Given the description of an element on the screen output the (x, y) to click on. 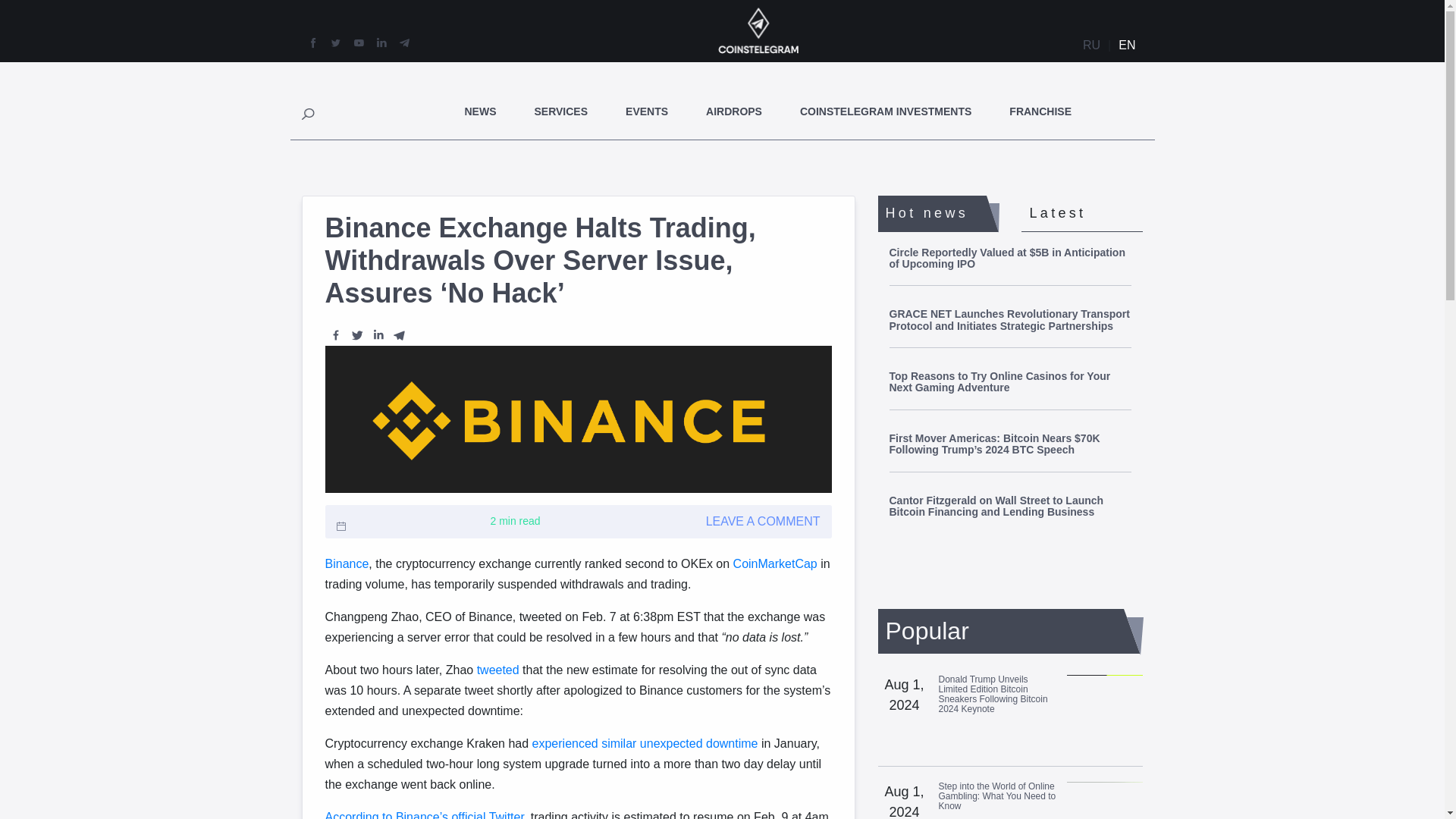
EN (1126, 45)
Twitter (356, 334)
EVENTS (647, 110)
Facebook (334, 334)
COINSTELEGRAM INVESTMENTS (885, 110)
RU (1091, 45)
Linkedin (377, 334)
SERVICES (561, 110)
FRANCHISE (1040, 110)
AIRDROPS (733, 110)
NEWS (480, 110)
Telegram (398, 334)
